Given the description of an element on the screen output the (x, y) to click on. 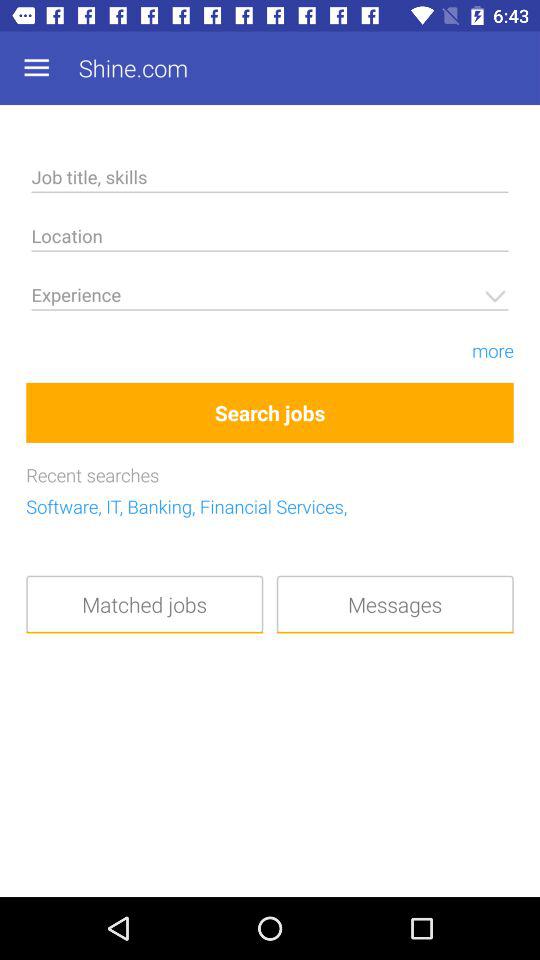
select experience from drop down (269, 298)
